Given the description of an element on the screen output the (x, y) to click on. 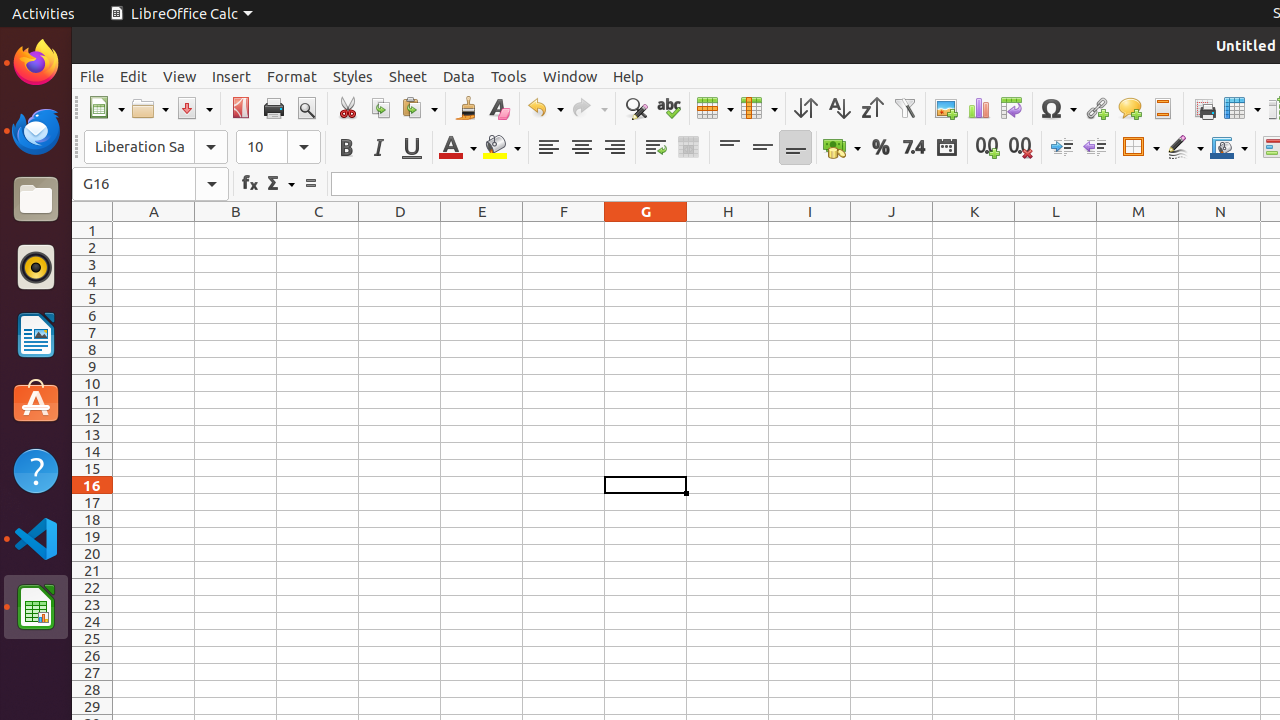
Sheet Element type: menu (408, 76)
B1 Element type: table-cell (236, 230)
Edit Element type: menu (133, 76)
E1 Element type: table-cell (482, 230)
Ubuntu Software Element type: push-button (36, 402)
